Given the description of an element on the screen output the (x, y) to click on. 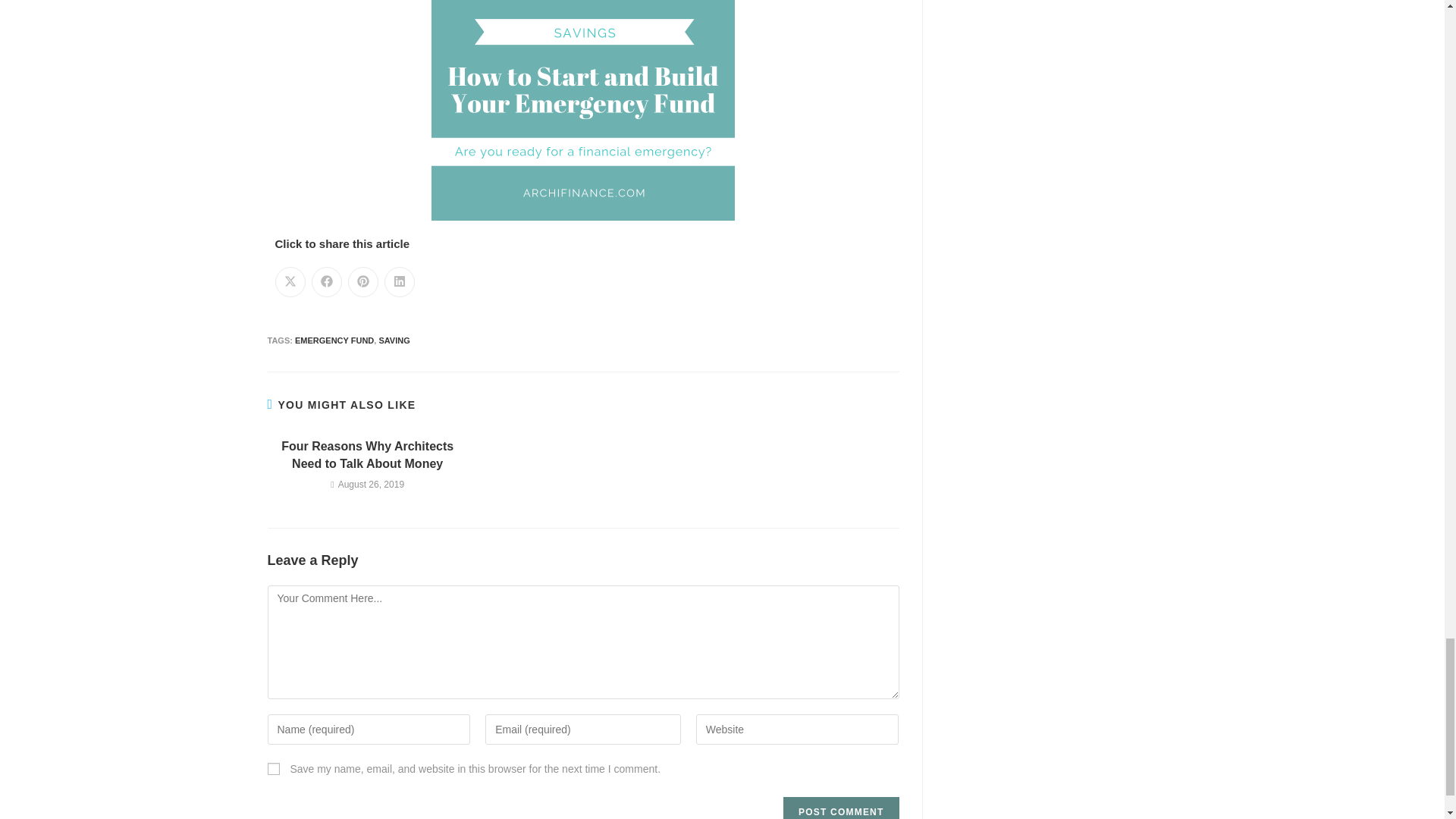
yes (272, 768)
Share on LinkedIn (398, 281)
Share on X (289, 281)
savings (582, 110)
Share on Facebook (325, 281)
Share on Pinterest (362, 281)
EMERGENCY FUND (334, 339)
Four Reasons Why Architects Need to Talk About Money (367, 455)
SAVING (393, 339)
Post Comment (840, 807)
Post Comment (840, 807)
Four Reasons Why Architects Need to Talk About Money (367, 455)
